Given the description of an element on the screen output the (x, y) to click on. 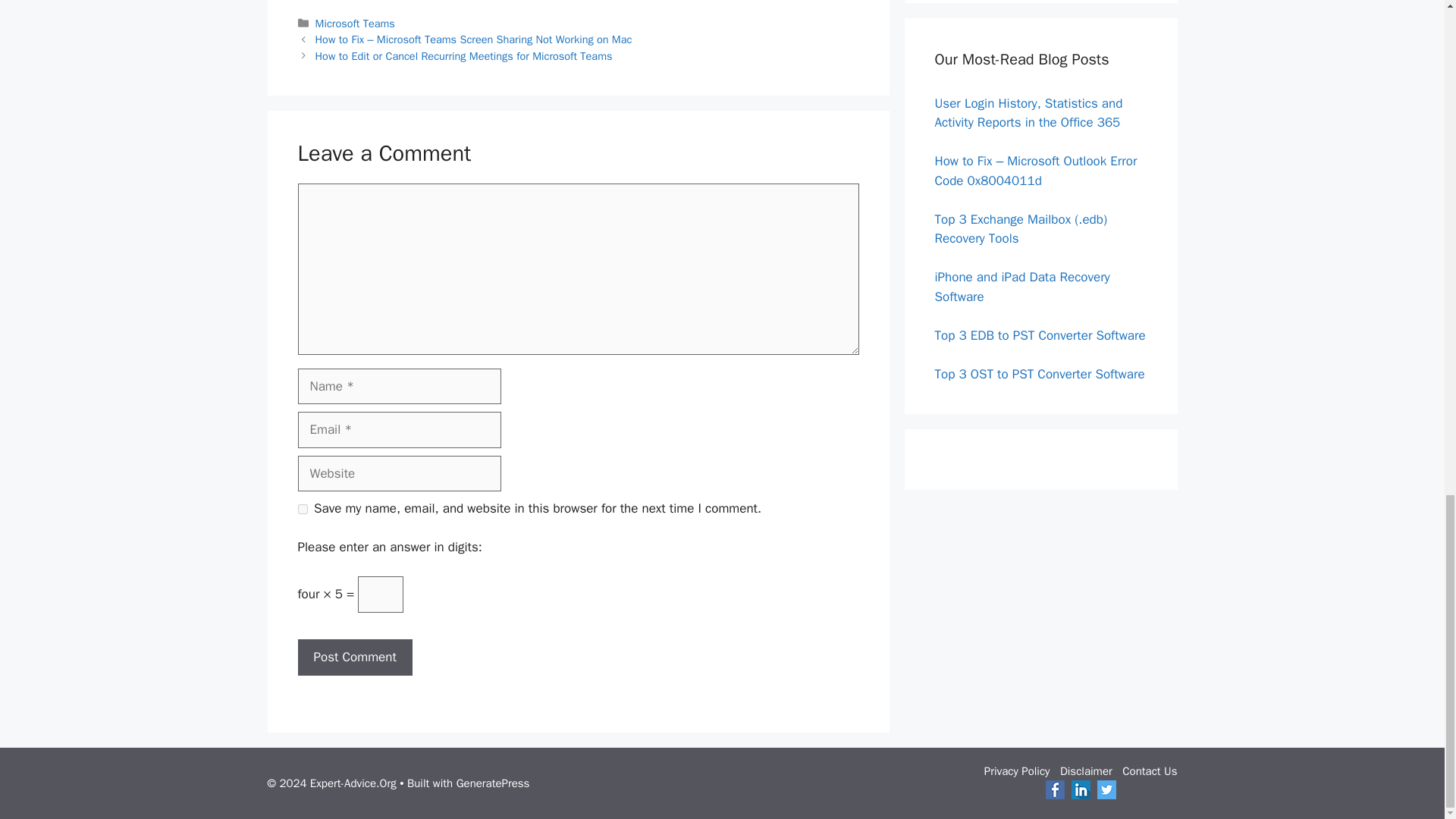
Disclaimer (1085, 771)
How to Edit or Cancel Recurring Meetings for Microsoft Teams (463, 56)
Contact Us (1149, 771)
Privacy Policy (1016, 771)
Microsoft Teams (354, 23)
Post Comment (354, 657)
Post Comment (354, 657)
Top 3 EDB to PST Converter Software (1039, 334)
yes (302, 509)
iPhone and iPad Data Recovery Software (1021, 286)
Top 3 OST to PST Converter Software (1039, 374)
